Given the description of an element on the screen output the (x, y) to click on. 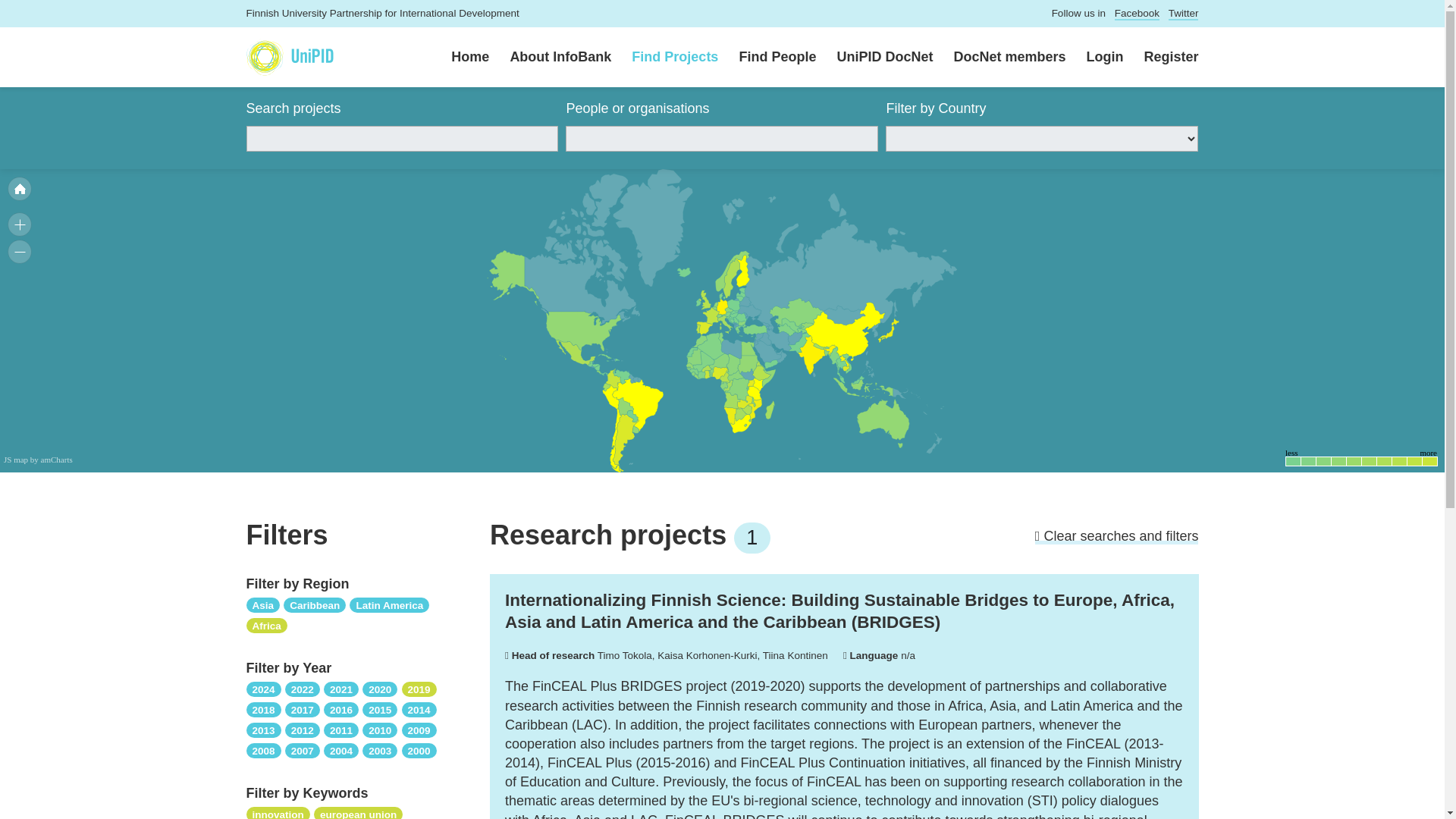
Africa (266, 624)
Home (459, 56)
2022 (302, 688)
Register (1160, 56)
2004 (340, 749)
2007 (302, 749)
Asia (262, 604)
2018 (263, 708)
JS map by amCharts (38, 459)
european union (358, 812)
2008 (263, 749)
2021 (340, 688)
2017 (302, 708)
UniPID DocNet (874, 56)
2009 (418, 729)
